Given the description of an element on the screen output the (x, y) to click on. 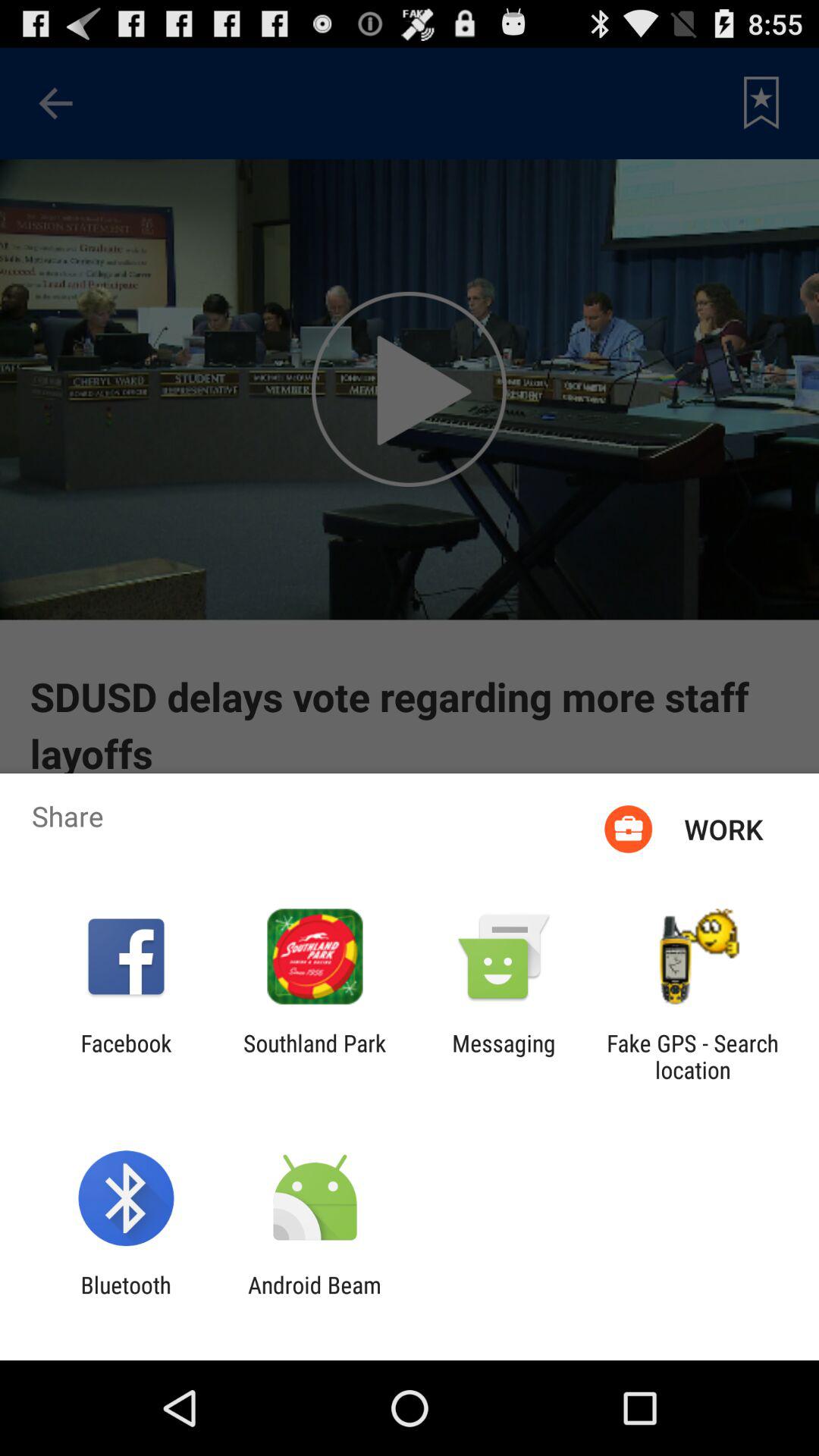
flip to messaging icon (503, 1056)
